Given the description of an element on the screen output the (x, y) to click on. 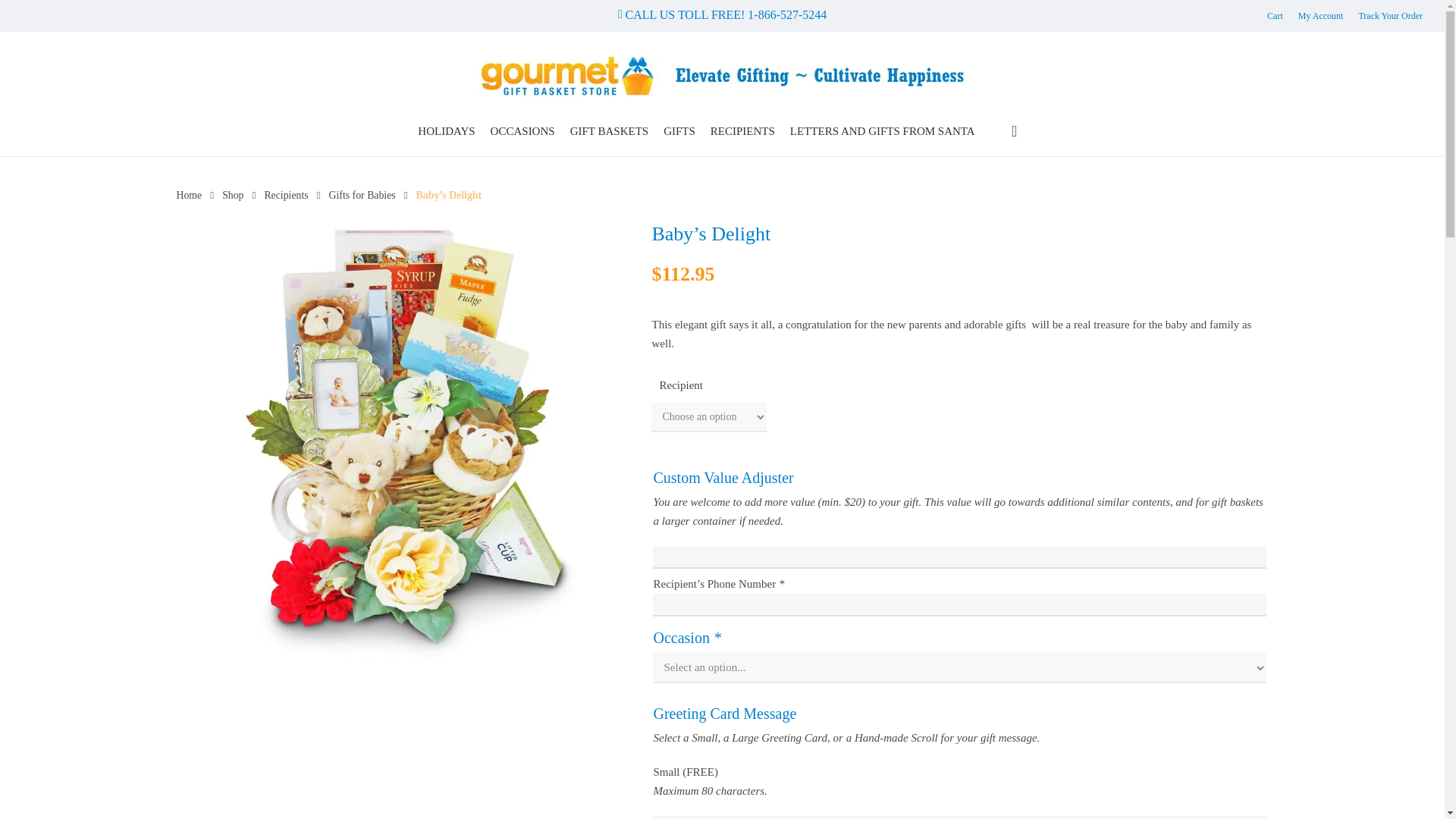
Track Your Order (1390, 15)
OCCASIONS (522, 131)
HOLIDAYS (445, 131)
My Account (1320, 15)
Required field (716, 637)
Cart (1274, 15)
Required field (781, 583)
CALL US TOLL FREE! 1-866-527-5244 (722, 14)
